Given the description of an element on the screen output the (x, y) to click on. 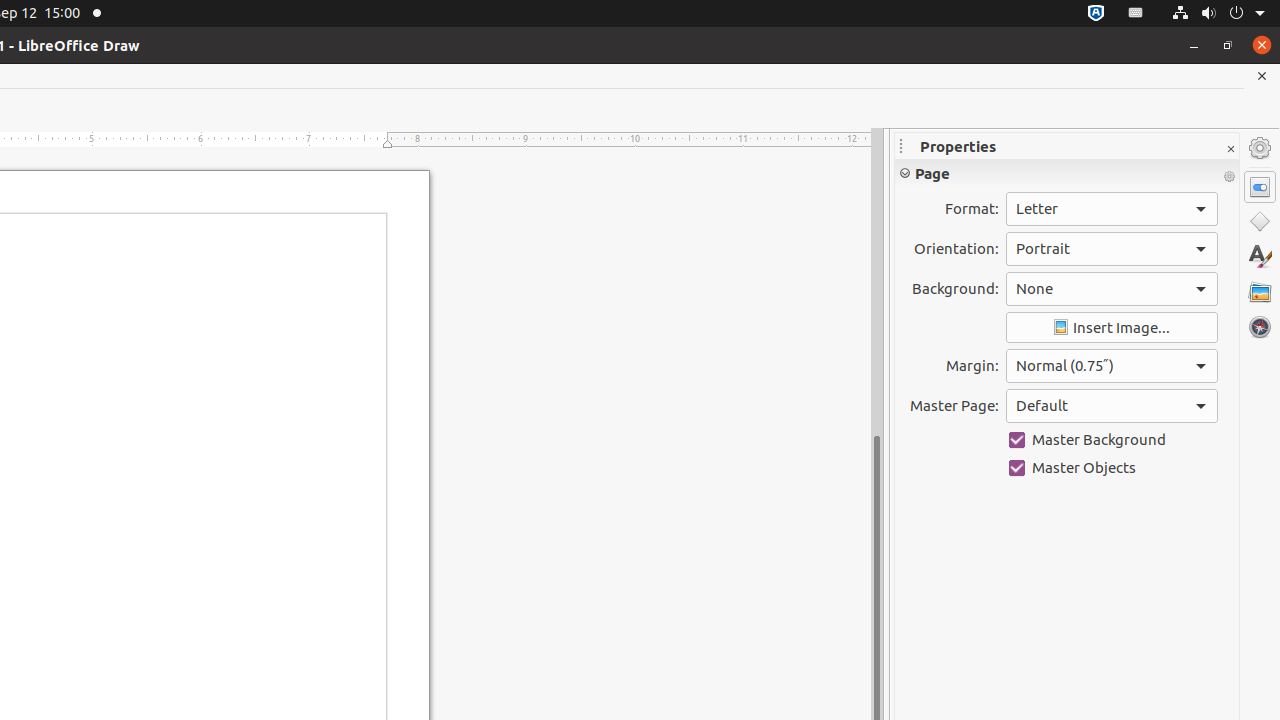
Navigator Element type: radio-button (1260, 327)
Format: Element type: combo-box (1112, 209)
System Element type: menu (1218, 13)
Master Background Element type: check-box (1112, 440)
Properties Element type: radio-button (1260, 187)
